Given the description of an element on the screen output the (x, y) to click on. 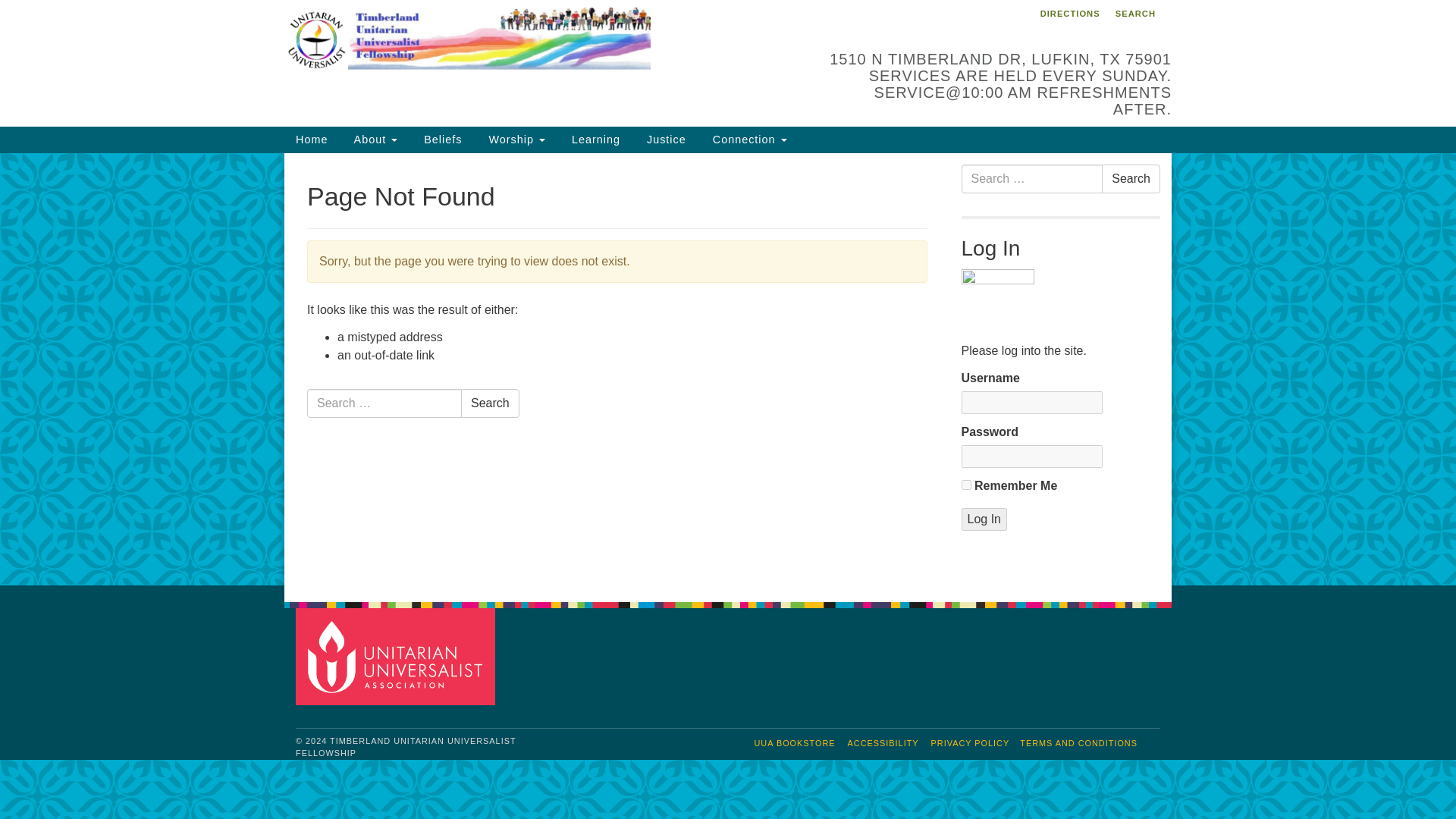
Home (311, 139)
Home (311, 139)
Beliefs (441, 139)
Learning (593, 139)
Worship (514, 139)
Log In (983, 518)
 About (374, 139)
UUA BOOKSTORE (795, 742)
SEARCH (1134, 13)
About (374, 139)
Log In (983, 518)
 Connection (747, 139)
PRIVACY POLICY (970, 742)
 Learning (593, 139)
